Given the description of an element on the screen output the (x, y) to click on. 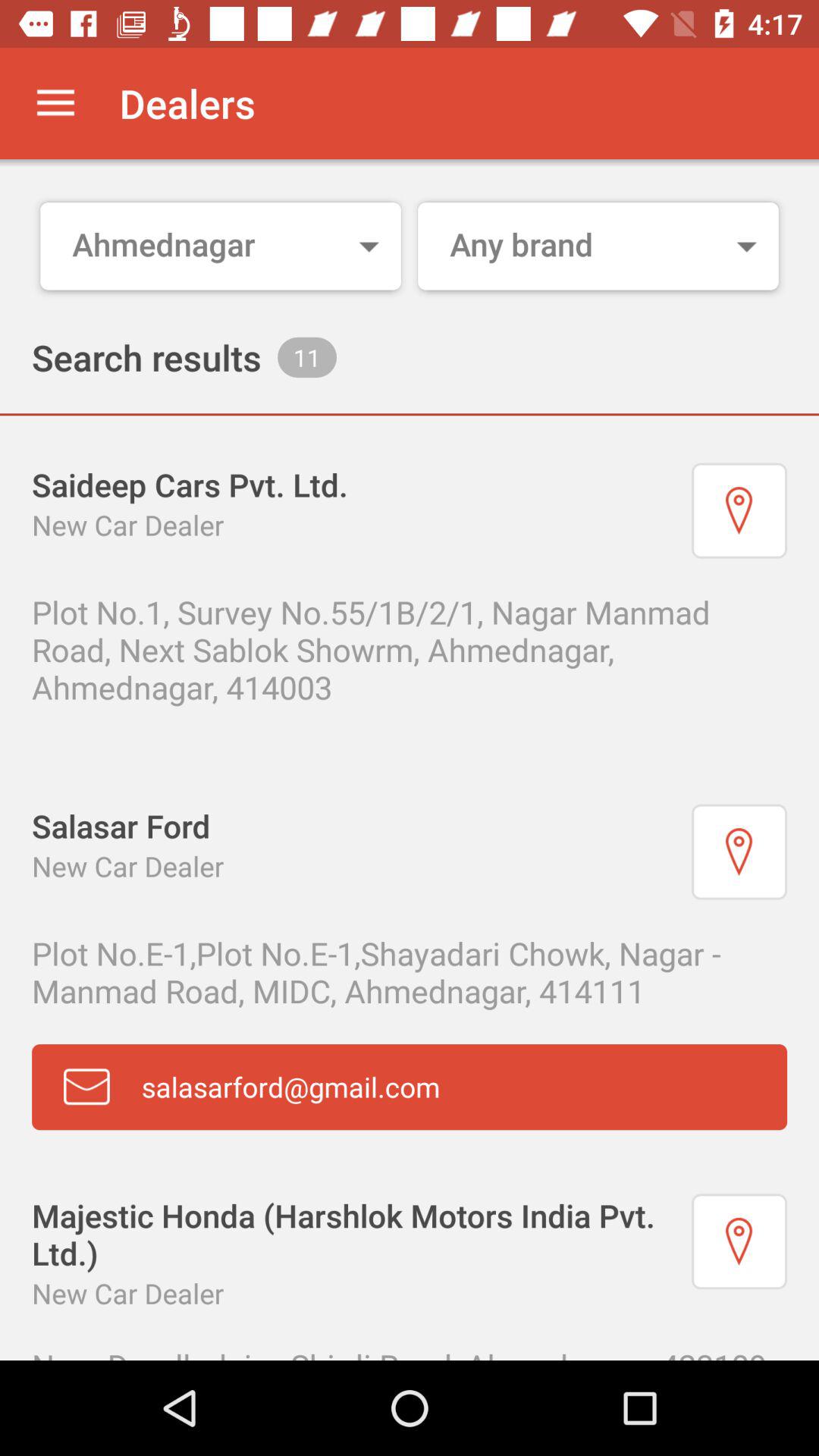
switch the location (739, 510)
